Given the description of an element on the screen output the (x, y) to click on. 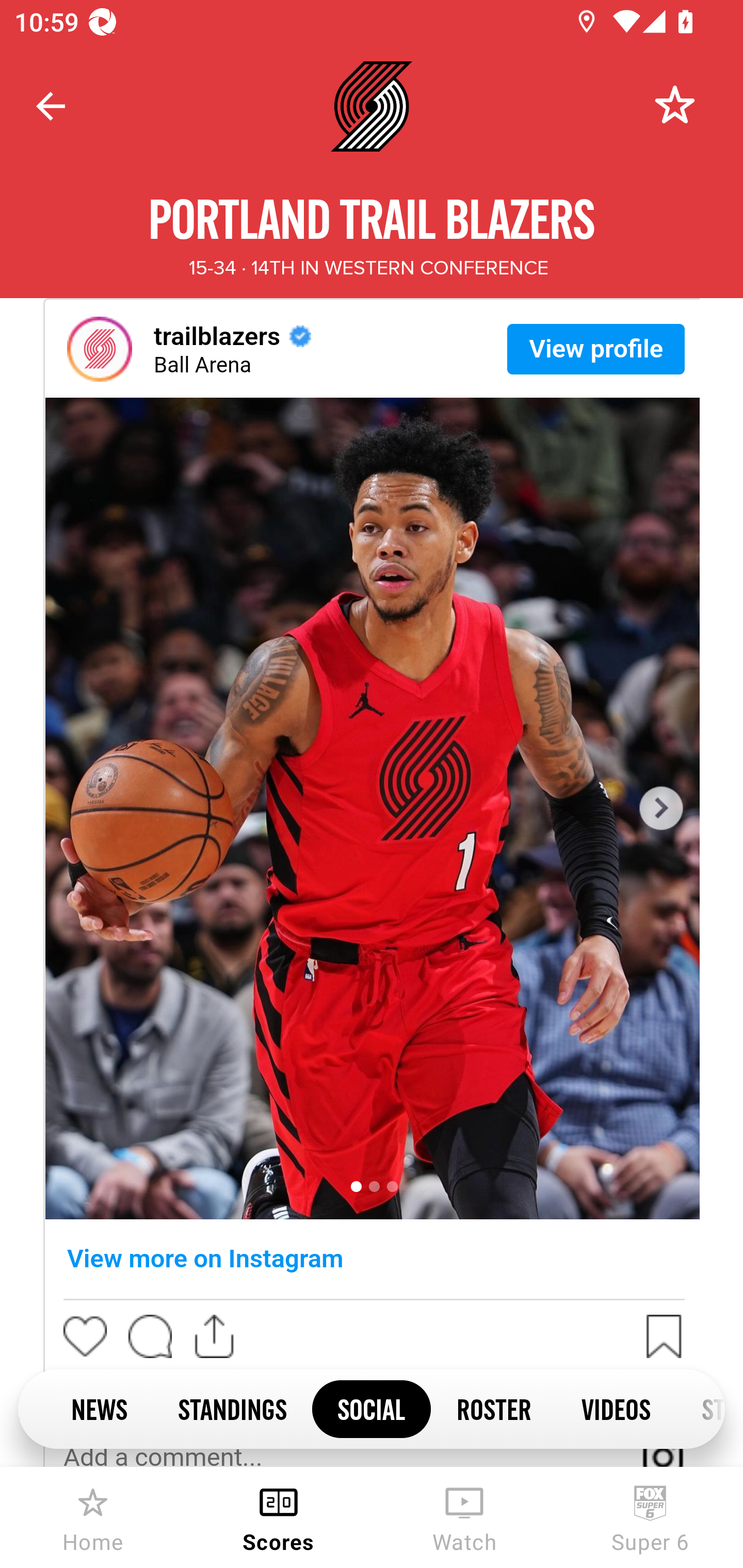
Navigate up (50, 106)
15-34 · 14TH IN WESTERN CONFERENCE (368, 267)
trailblazers (99, 348)
trailblazers Verified trailblazers (264, 336)
View profile (595, 348)
Ball Arena (201, 365)
Next (659, 808)
View more on Instagram (373, 1258)
Like (84, 1335)
Comment (149, 1335)
Share (214, 1335)
Save (662, 1335)
NEWS (98, 1408)
STANDINGS (232, 1408)
ROSTER (493, 1408)
VIDEOS (616, 1408)
Home (92, 1517)
Watch (464, 1517)
Super 6 (650, 1517)
